Given the description of an element on the screen output the (x, y) to click on. 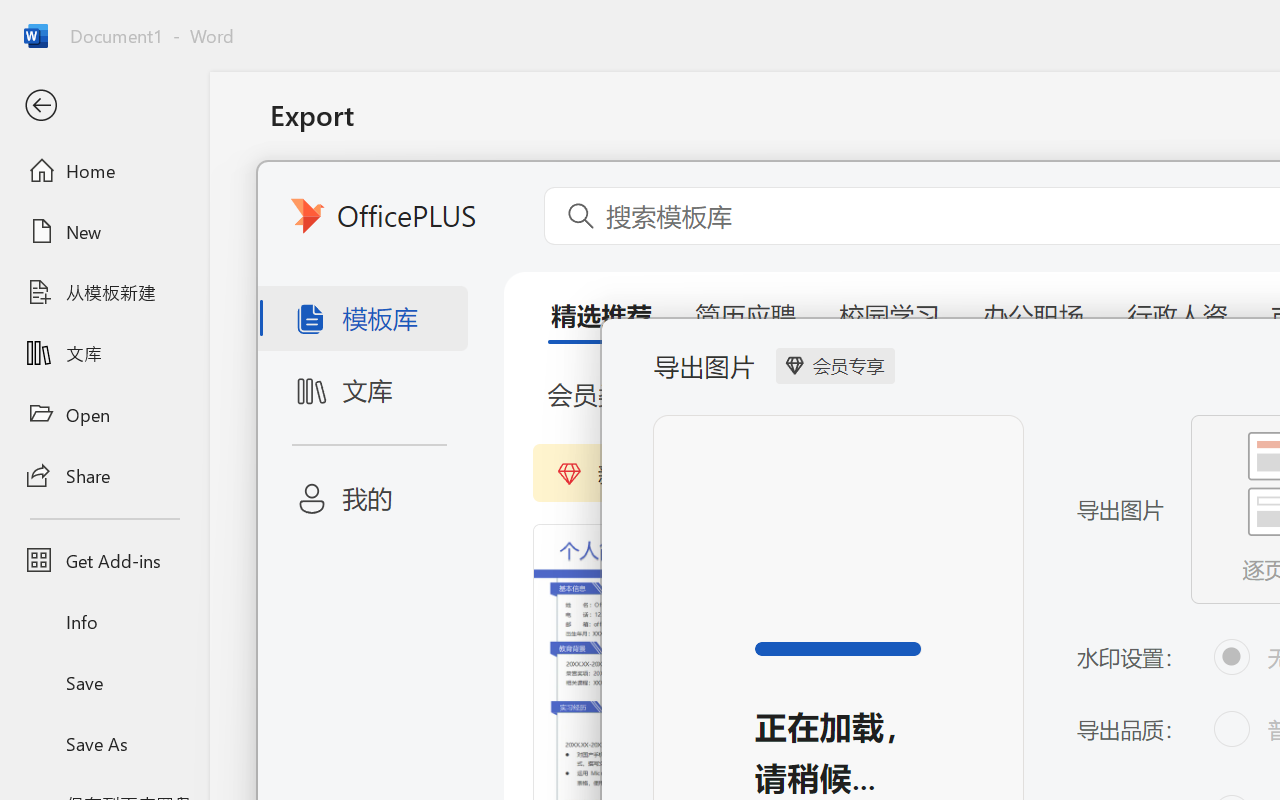
Back (104, 106)
Save As (104, 743)
Info (104, 621)
